Given the description of an element on the screen output the (x, y) to click on. 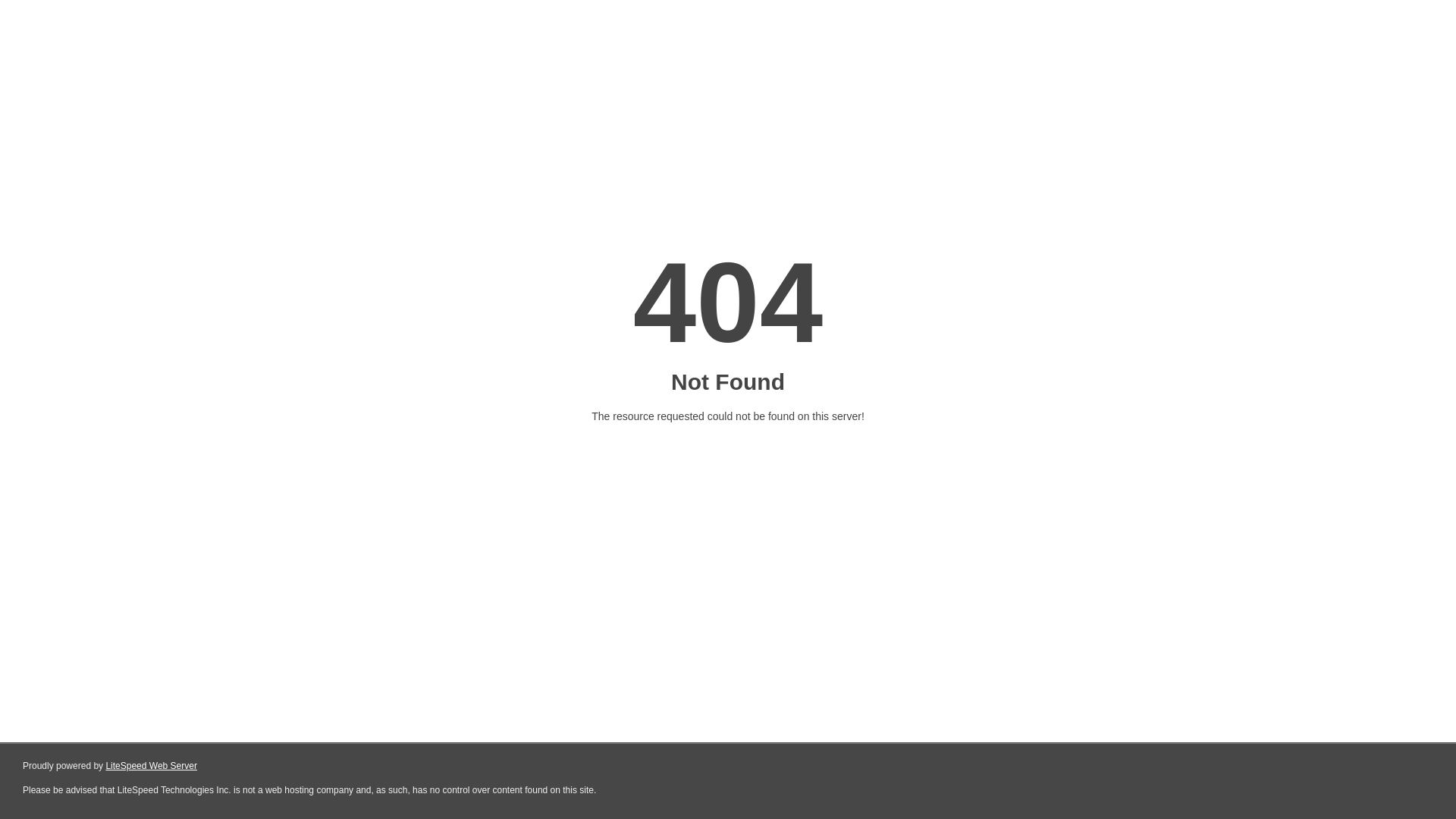
LiteSpeed Web Server Element type: text (151, 765)
